Given the description of an element on the screen output the (x, y) to click on. 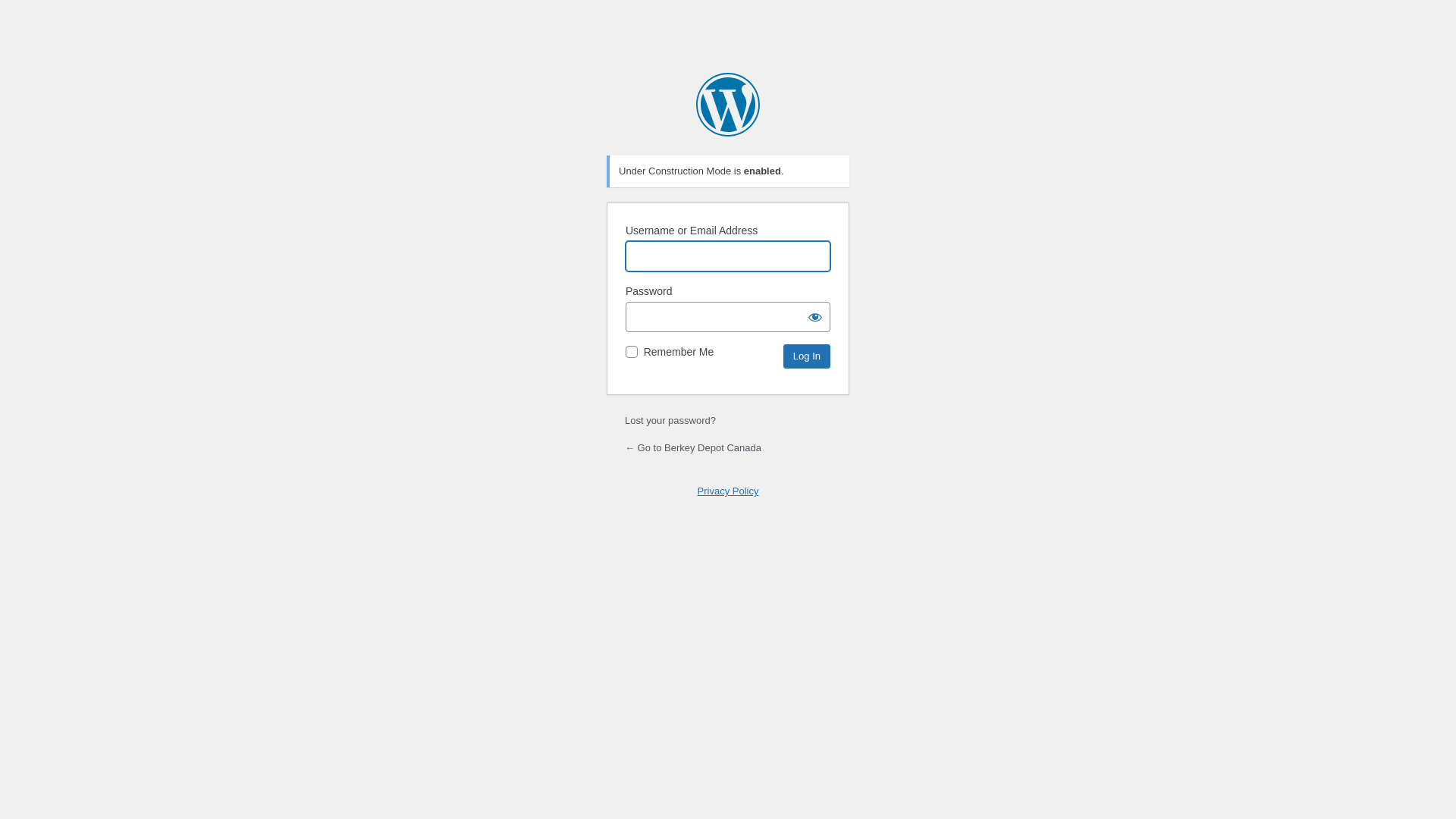
Powered by WordPress Element type: text (727, 104)
Privacy Policy Element type: text (728, 490)
Lost your password? Element type: text (669, 420)
Log In Element type: text (806, 356)
